Given the description of an element on the screen output the (x, y) to click on. 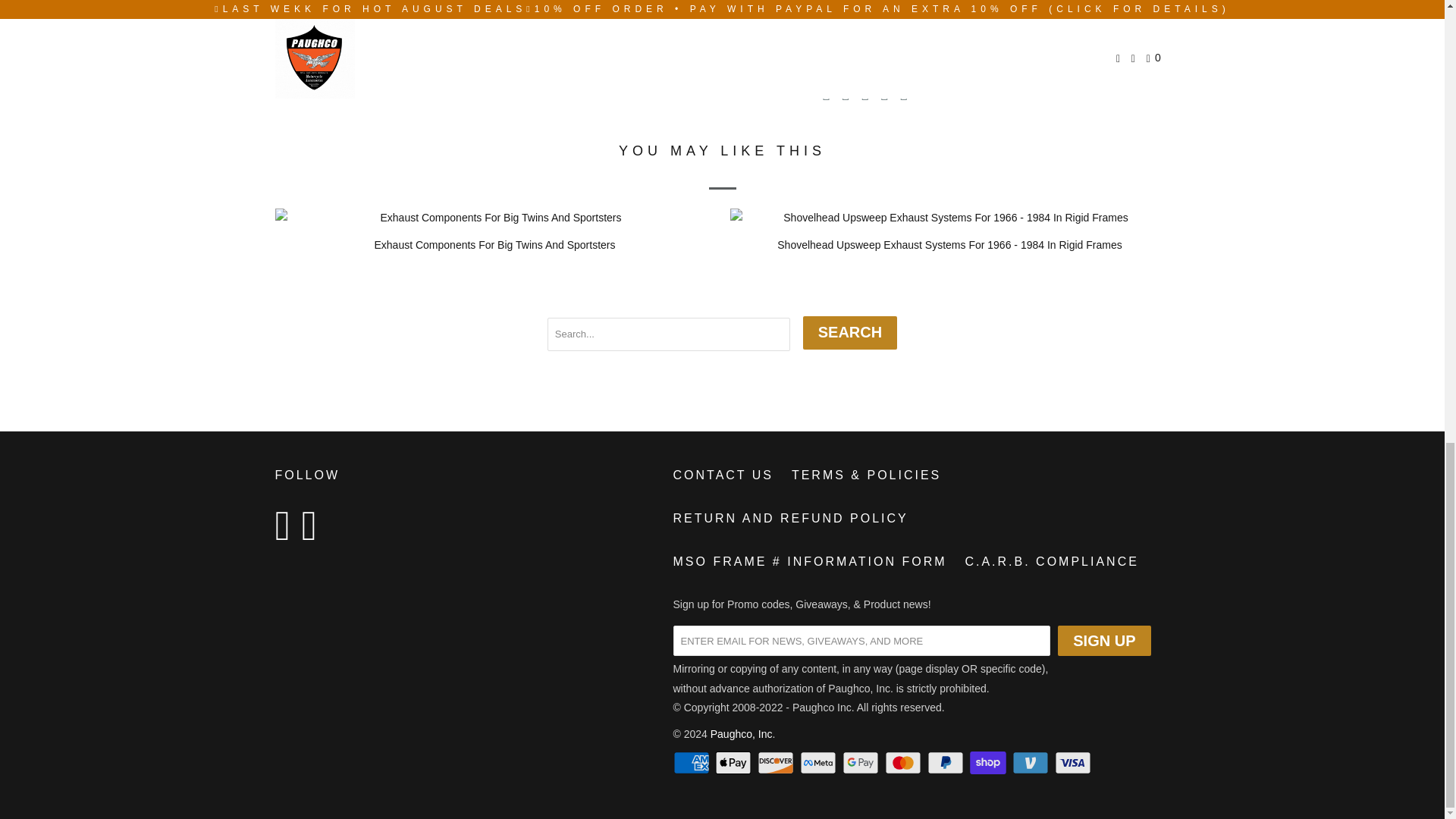
Search (849, 332)
Meta Pay (819, 762)
Sign Up (1104, 640)
Discover (776, 762)
American Express (692, 762)
Visa (1074, 762)
Google Pay (862, 762)
PayPal (946, 762)
Mastercard (904, 762)
Venmo (1031, 762)
